Given the description of an element on the screen output the (x, y) to click on. 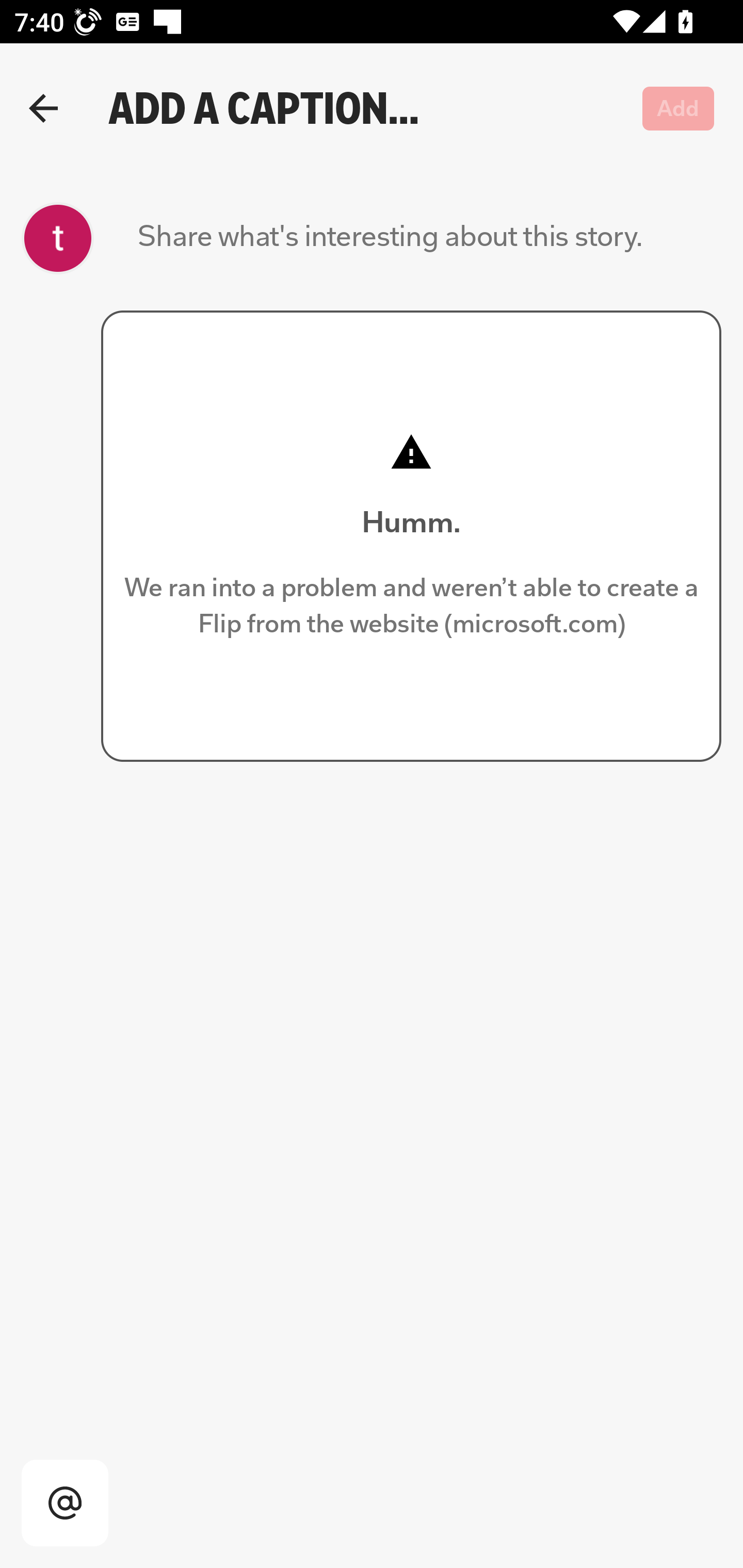
Add (678, 108)
Share what's interesting about this story. (390, 238)
